Given the description of an element on the screen output the (x, y) to click on. 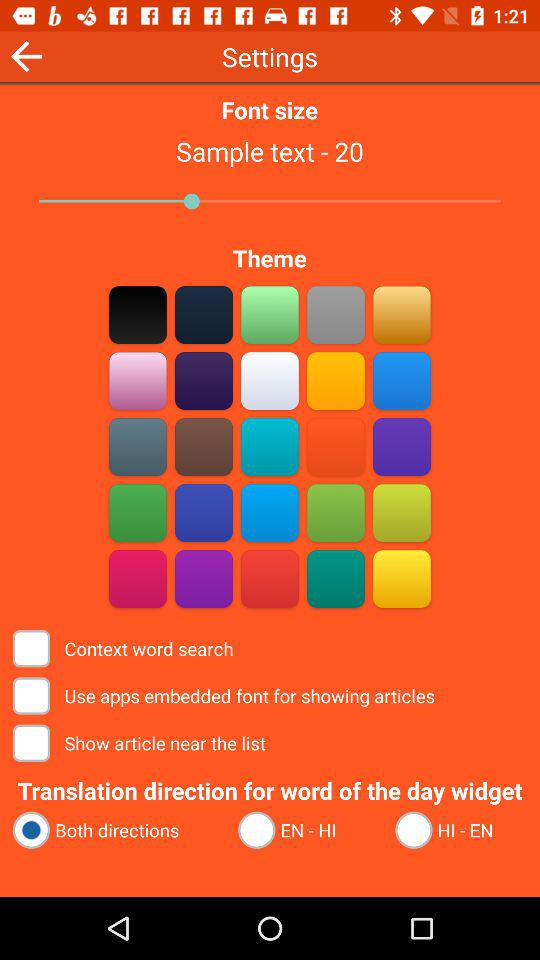
blue square (401, 380)
